Given the description of an element on the screen output the (x, y) to click on. 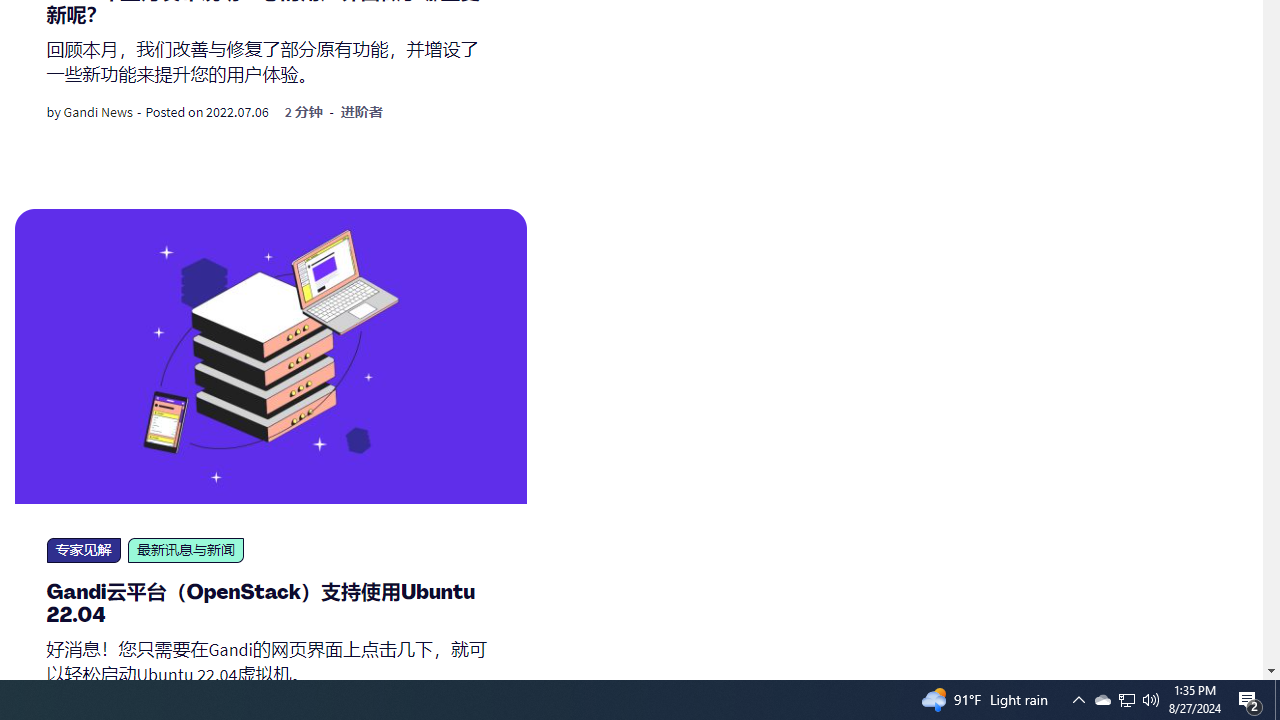
Gandi News (97, 111)
